Given the description of an element on the screen output the (x, y) to click on. 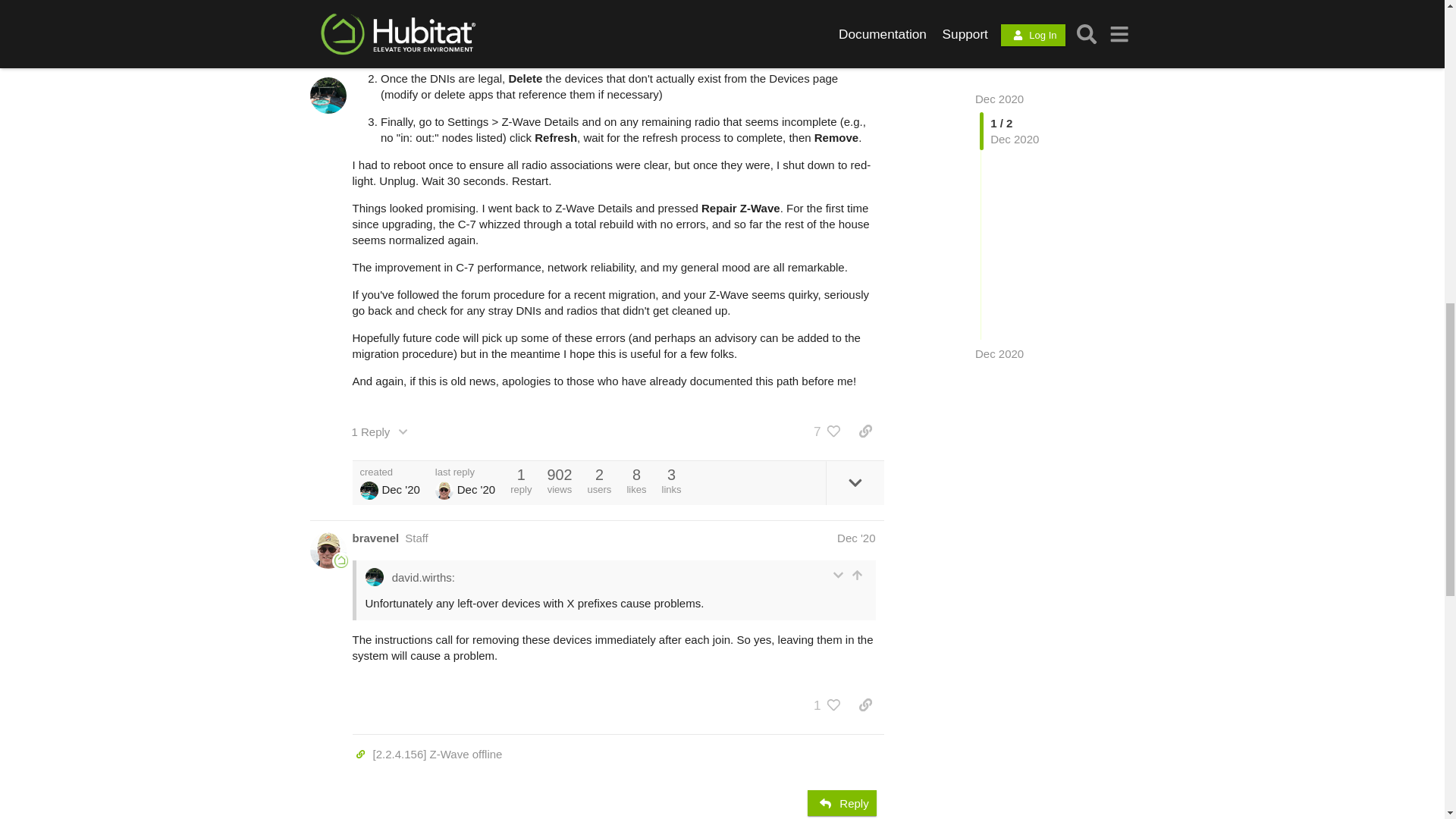
Reply (842, 802)
1 Reply (381, 431)
7 people liked this post (825, 431)
Staff (416, 537)
1 (825, 705)
last reply (465, 471)
copy a link to this post to clipboard (865, 431)
7 (825, 431)
Dec '20 (856, 537)
bravenel (375, 537)
